Given the description of an element on the screen output the (x, y) to click on. 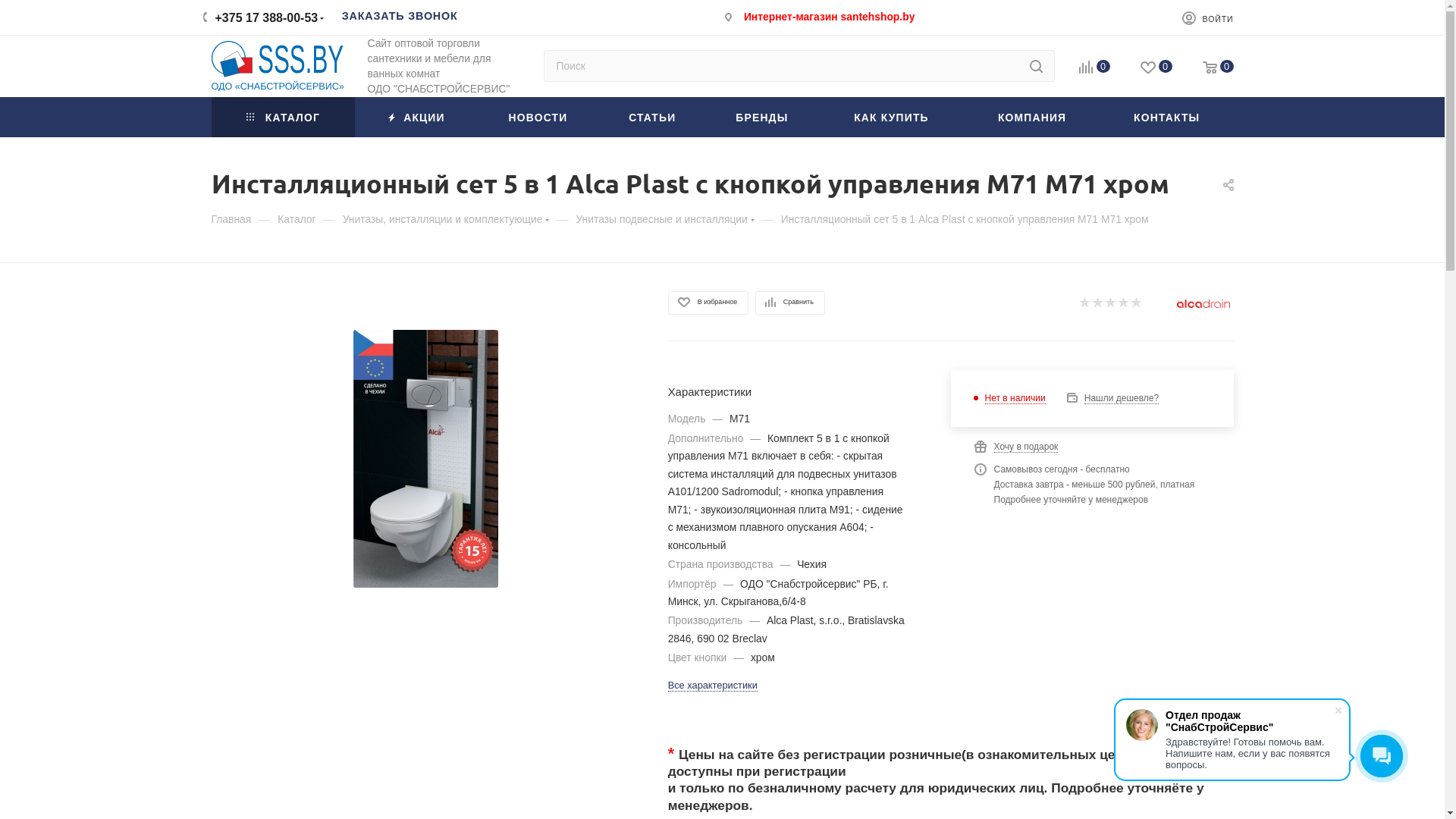
sss.by Element type: hover (276, 65)
AlcaPlast Element type: hover (1203, 303)
0 Element type: text (1093, 68)
+375 17 388-00-53 Element type: text (266, 16)
0 Element type: text (1156, 68)
0 Element type: text (1217, 68)
